Given the description of an element on the screen output the (x, y) to click on. 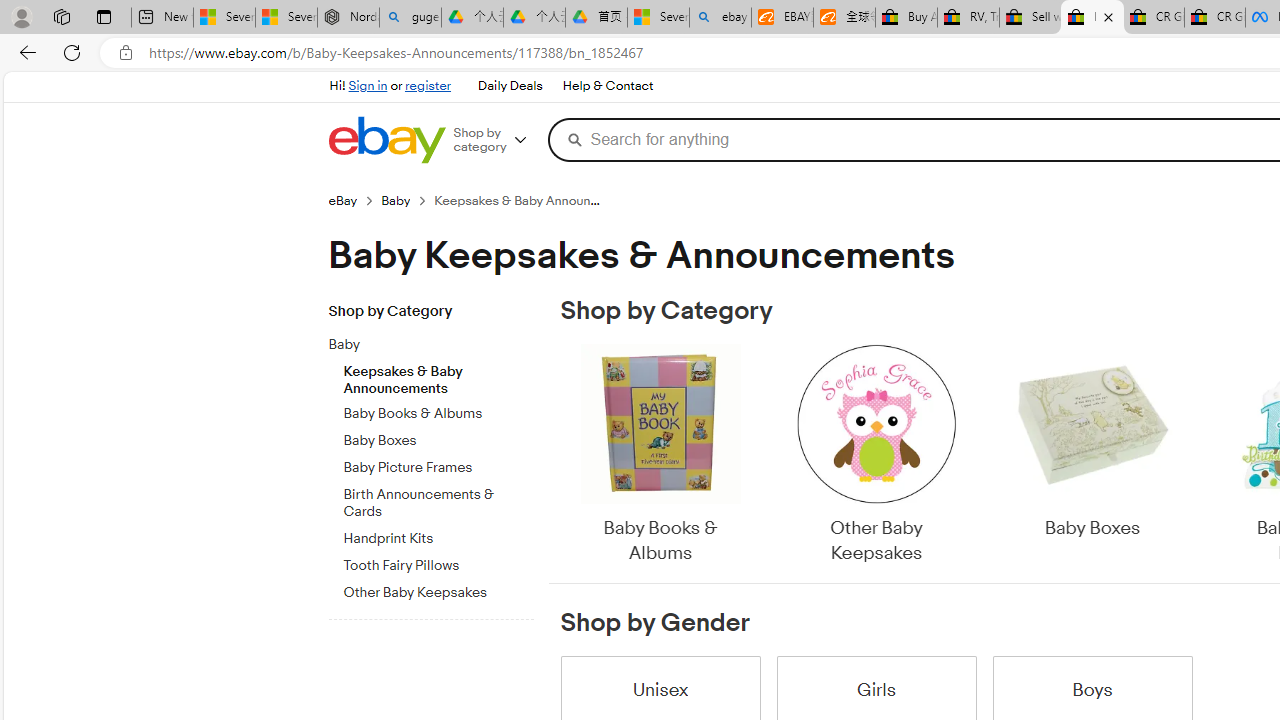
eBay (354, 200)
Baby Boxes (1092, 443)
Keepsakes & Baby Announcements (438, 375)
Baby Boxes (1092, 455)
Daily Deals (509, 85)
Baby Picture Frames (438, 468)
ebay - Search (720, 17)
